Given the description of an element on the screen output the (x, y) to click on. 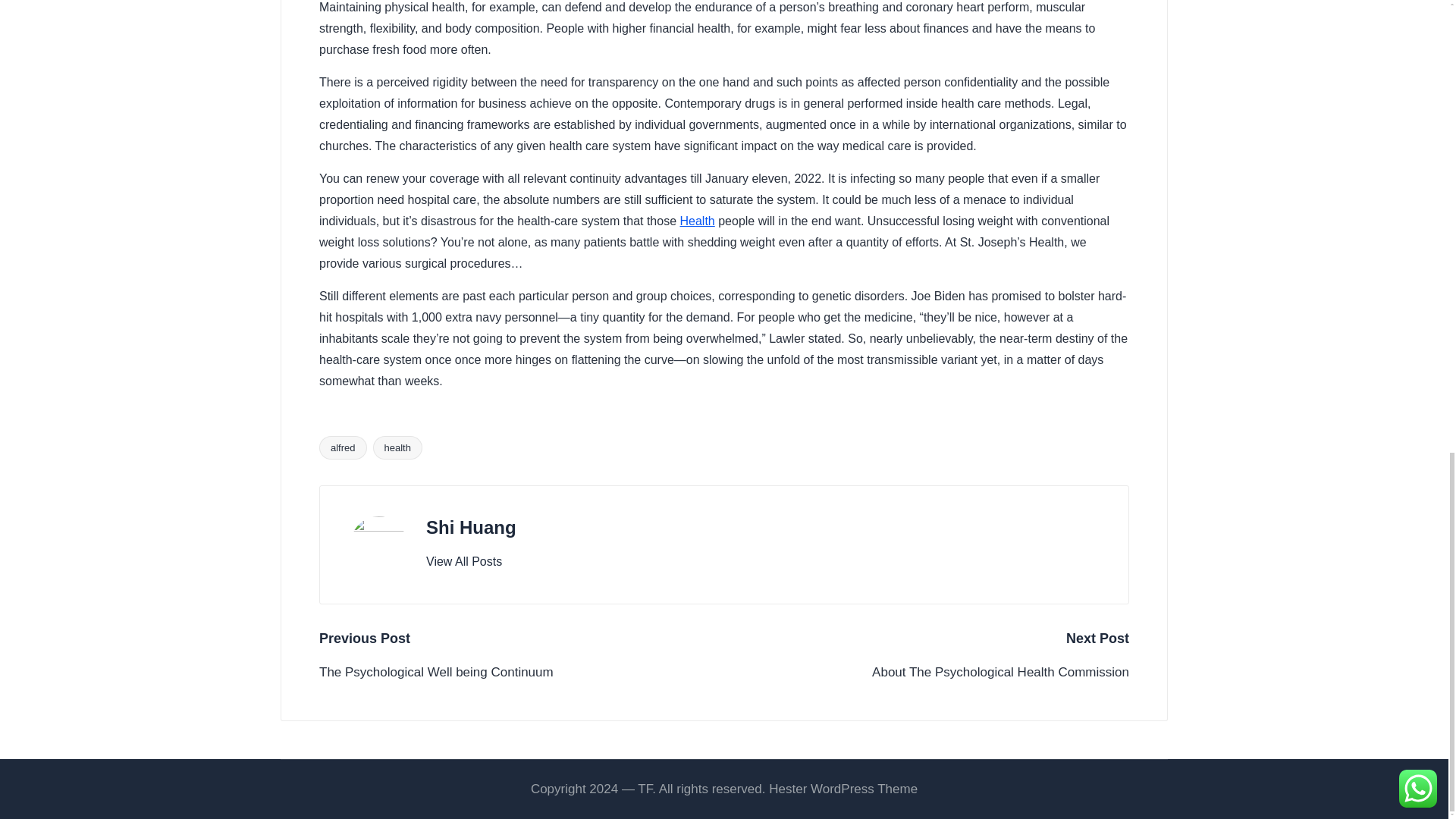
Health (696, 220)
Hester WordPress Theme (842, 789)
About The Psychological Health Commission (926, 672)
alfred (342, 447)
The Psychological Well being Continuum (520, 672)
Shi Huang (471, 526)
View All Posts (464, 561)
health (397, 447)
